Given the description of an element on the screen output the (x, y) to click on. 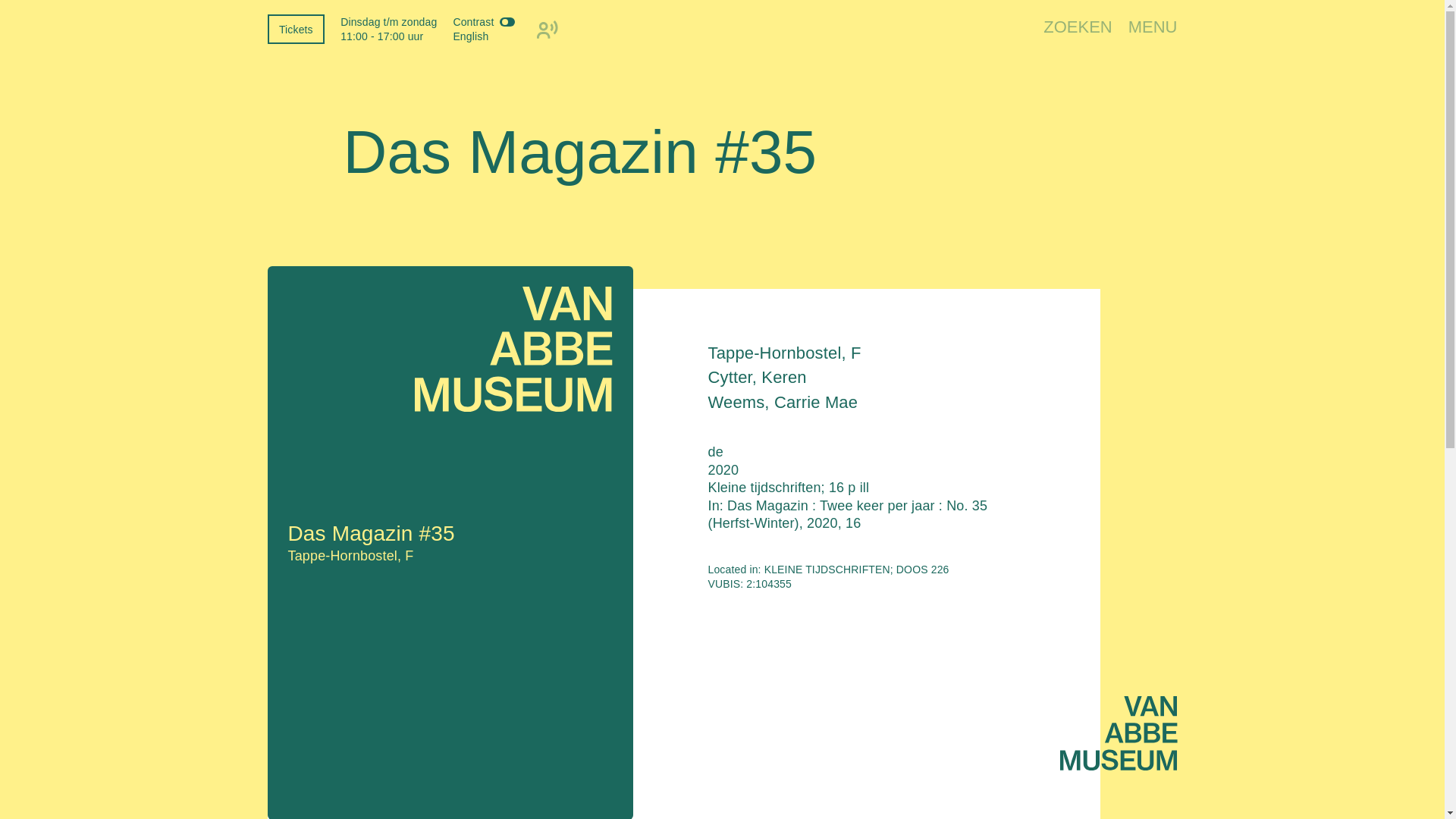
Tickets (295, 29)
English (469, 36)
MENU (1152, 28)
ZOEKEN (1077, 28)
2:104355 (768, 583)
Ga naar de homepagina van Van Abbemuseum (1118, 735)
Tickets (295, 29)
